Given the description of an element on the screen output the (x, y) to click on. 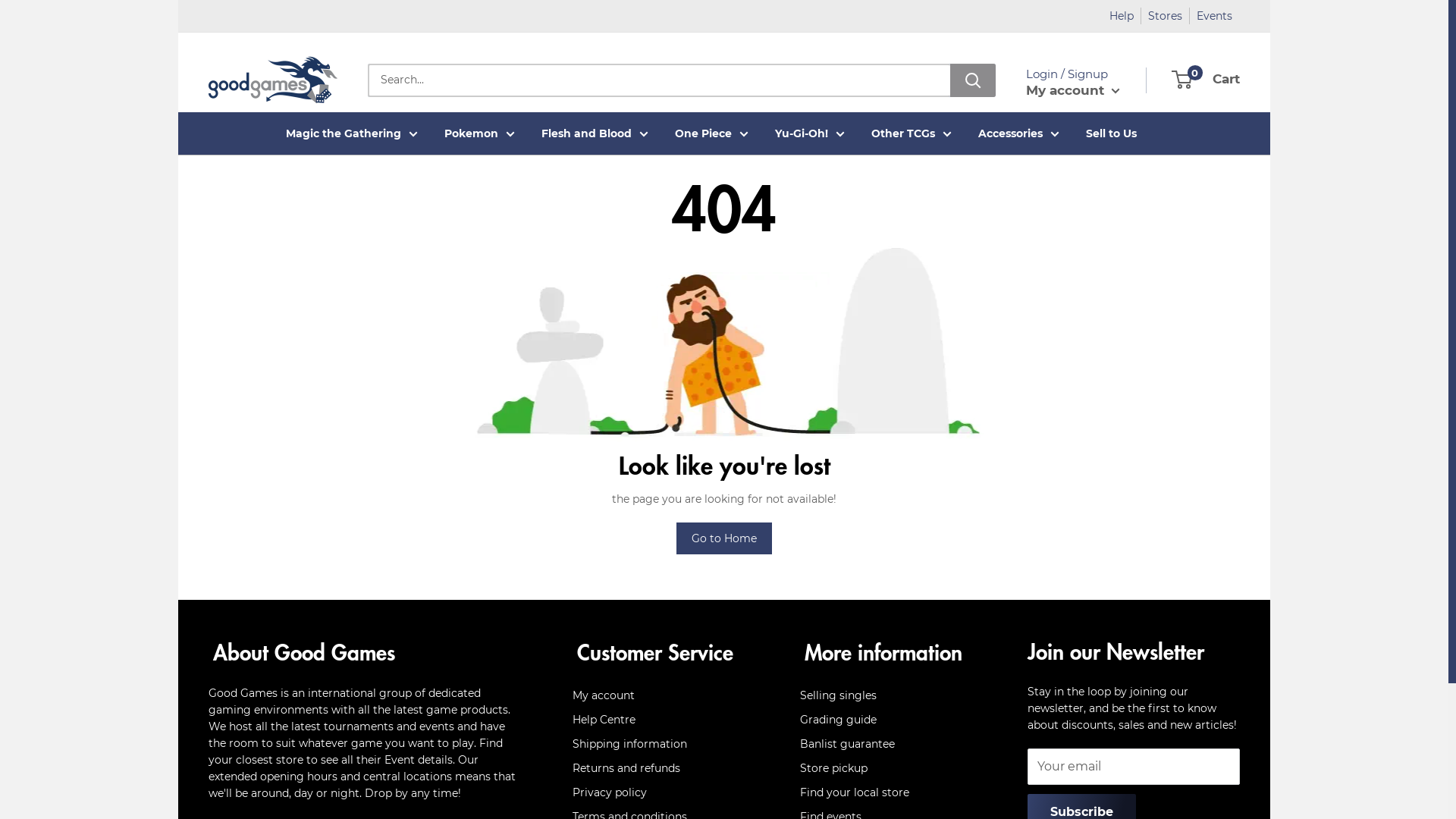
Pokemon Element type: text (479, 133)
Store pickup Element type: text (887, 768)
My account Element type: text (659, 695)
One Piece Element type: text (711, 133)
Other TCGs Element type: text (910, 133)
More information Element type: text (887, 651)
Help Element type: text (1121, 15)
Banlist guarantee Element type: text (887, 743)
Shipping information Element type: text (659, 743)
Privacy policy Element type: text (659, 792)
Sell to Us Element type: text (1110, 133)
0
Cart Element type: text (1206, 79)
Go to Home Element type: text (723, 538)
Find your local store Element type: text (887, 792)
Customer Service Element type: text (659, 651)
My account Element type: text (1073, 89)
Returns and refunds Element type: text (659, 768)
Accessories Element type: text (1018, 133)
Stores Element type: text (1165, 15)
Events Element type: text (1214, 15)
Help Centre Element type: text (659, 719)
Yu-Gi-Oh! Element type: text (809, 133)
Grading guide Element type: text (887, 719)
Flesh and Blood Element type: text (594, 133)
About Good Games Element type: text (363, 651)
Selling singles Element type: text (887, 695)
Magic the Gathering Element type: text (351, 133)
